Given the description of an element on the screen output the (x, y) to click on. 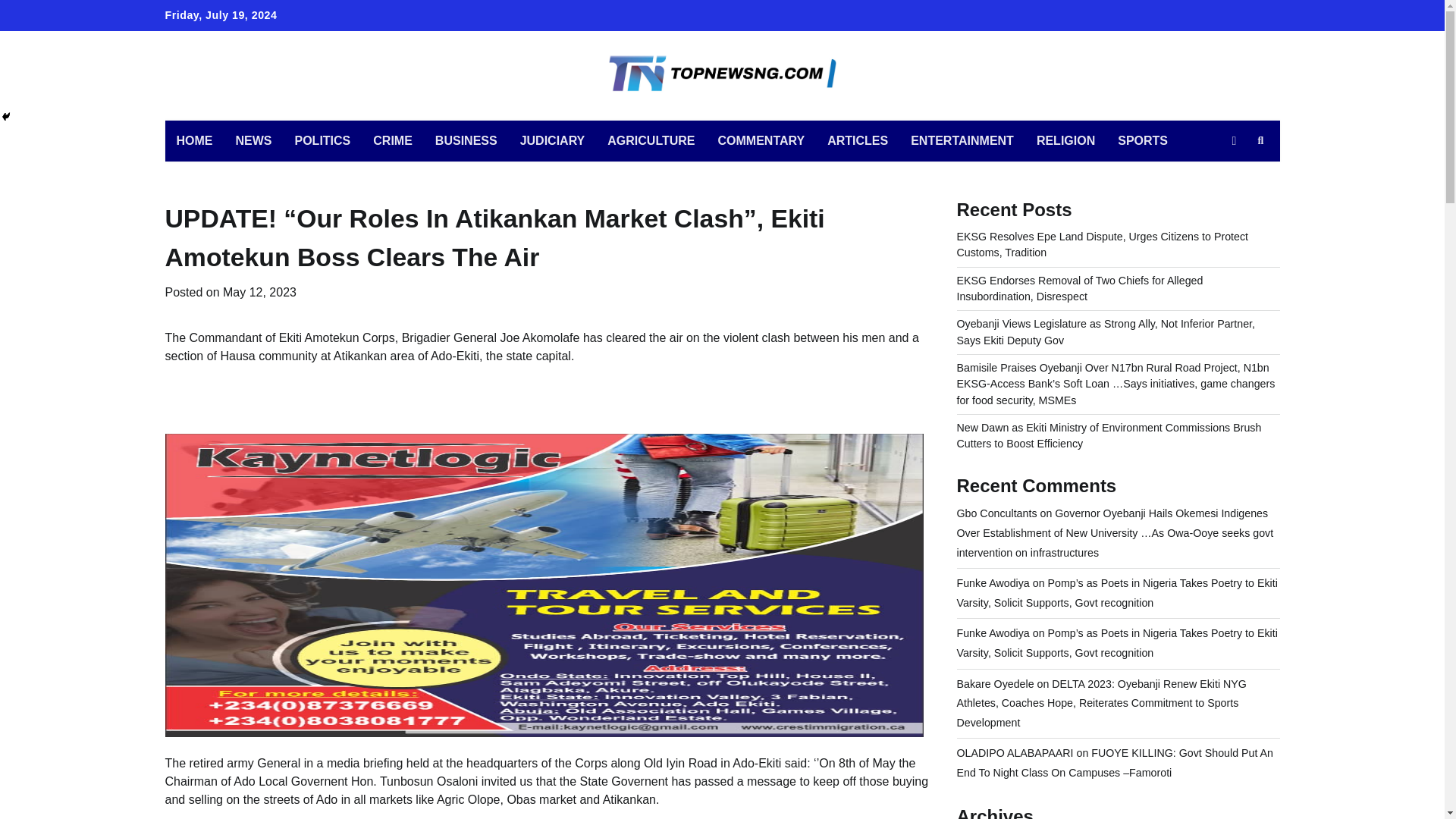
Search (1232, 176)
BUSINESS (465, 140)
ENTERTAINMENT (962, 140)
RELIGION (1065, 140)
View Random Post (1233, 140)
COMMENTARY (761, 140)
POLITICS (322, 140)
JUDICIARY (552, 140)
CRIME (392, 140)
AGRICULTURE (650, 140)
Search (1260, 140)
SPORTS (1142, 140)
May 12, 2023 (259, 291)
HOME (194, 140)
NEWS (253, 140)
